Given the description of an element on the screen output the (x, y) to click on. 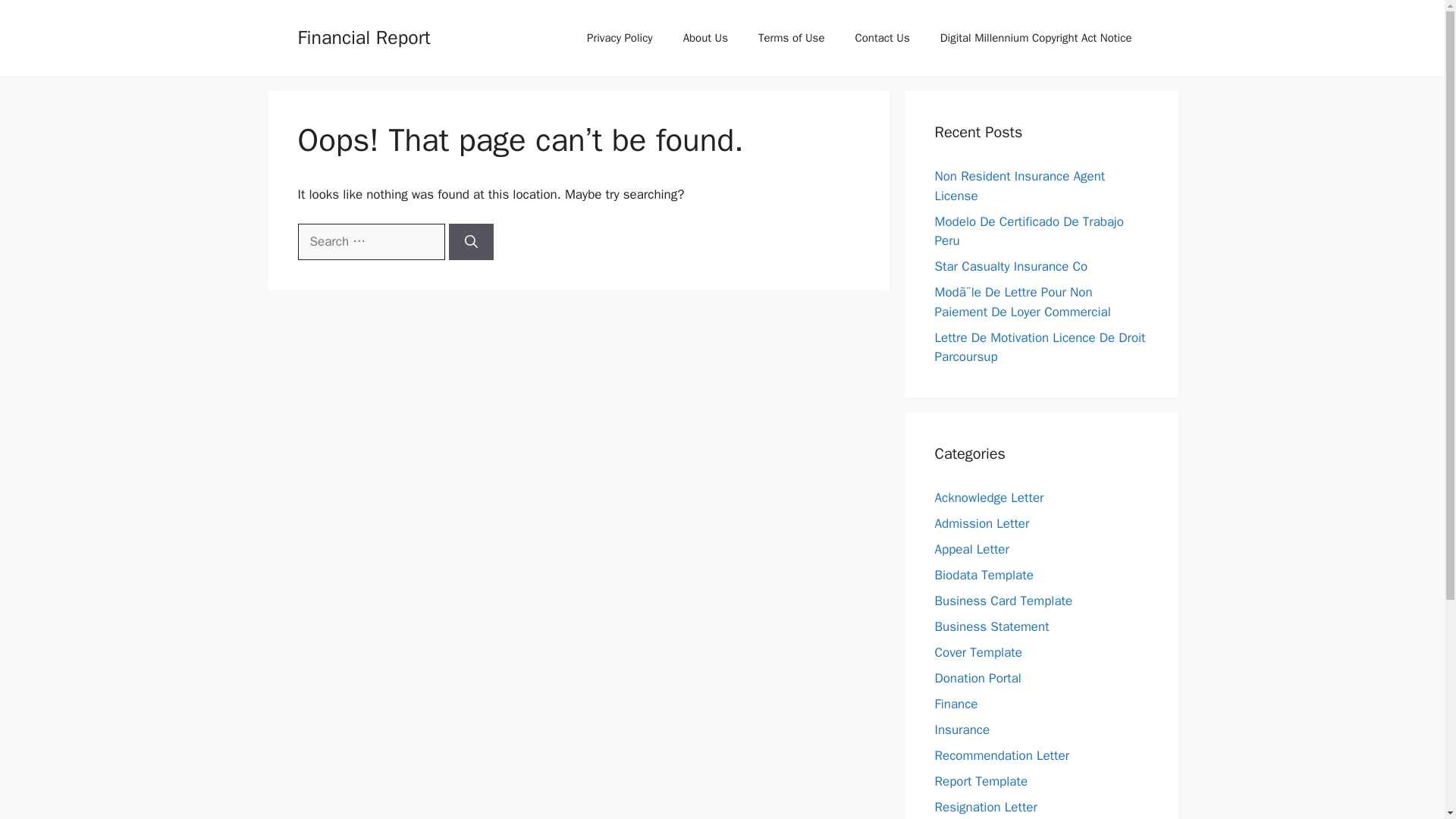
Business Card Template (1002, 600)
Resignation Letter (985, 806)
Terms of Use (791, 37)
Admission Letter (981, 523)
Contact Us (882, 37)
Biodata Template (983, 575)
Search for: (370, 241)
Privacy Policy (620, 37)
Appeal Letter (971, 549)
Financial Report (363, 37)
Modelo De Certificado De Trabajo Peru (1029, 231)
Acknowledge Letter (988, 497)
Digital Millennium Copyright Act Notice (1035, 37)
Star Casualty Insurance Co (1010, 266)
Recommendation Letter (1001, 755)
